Given the description of an element on the screen output the (x, y) to click on. 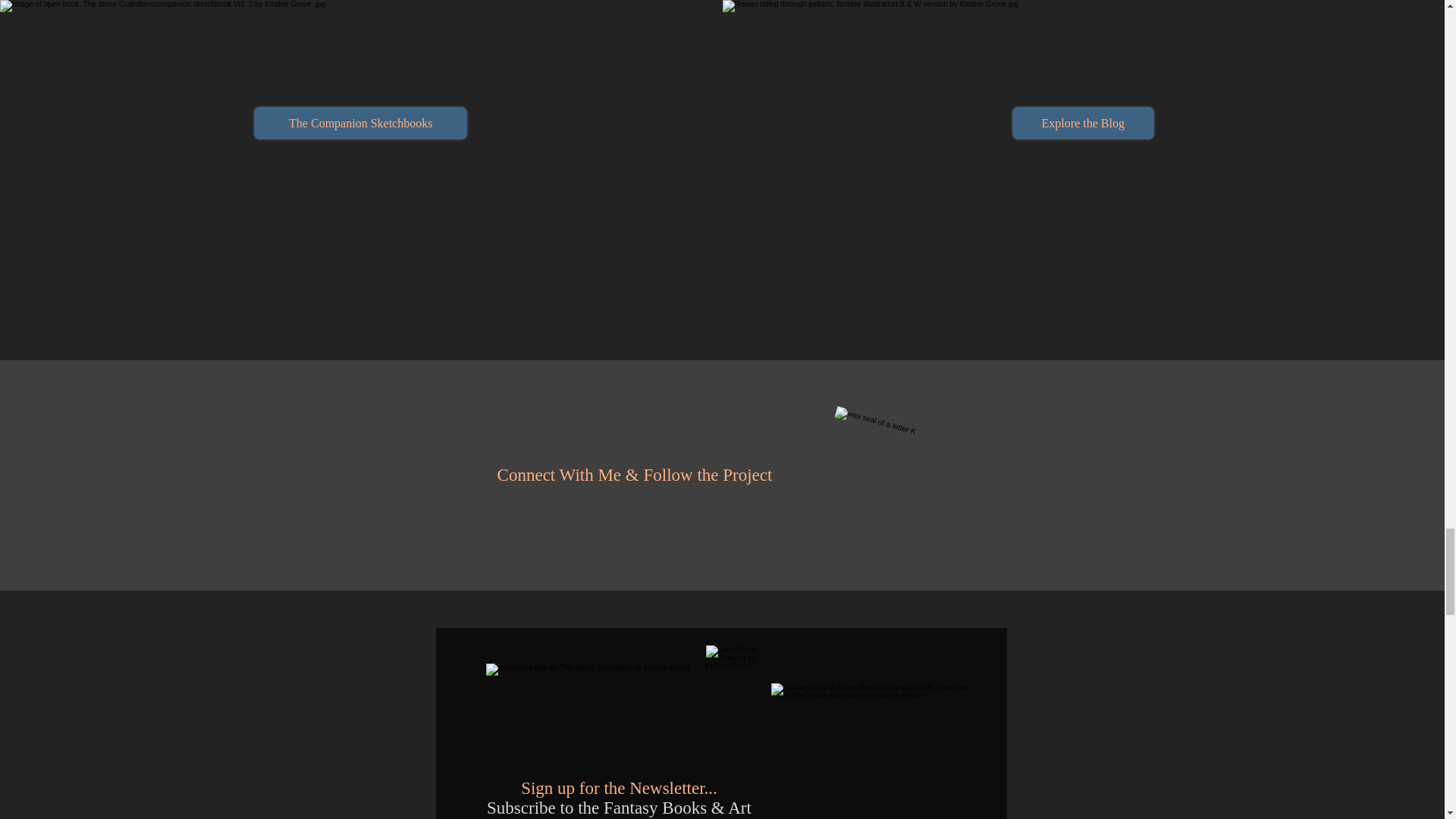
Explore the Blog (1083, 122)
MapOfEryosLarge.jpg (873, 751)
The Companion Sketchbooks (359, 122)
